Given the description of an element on the screen output the (x, y) to click on. 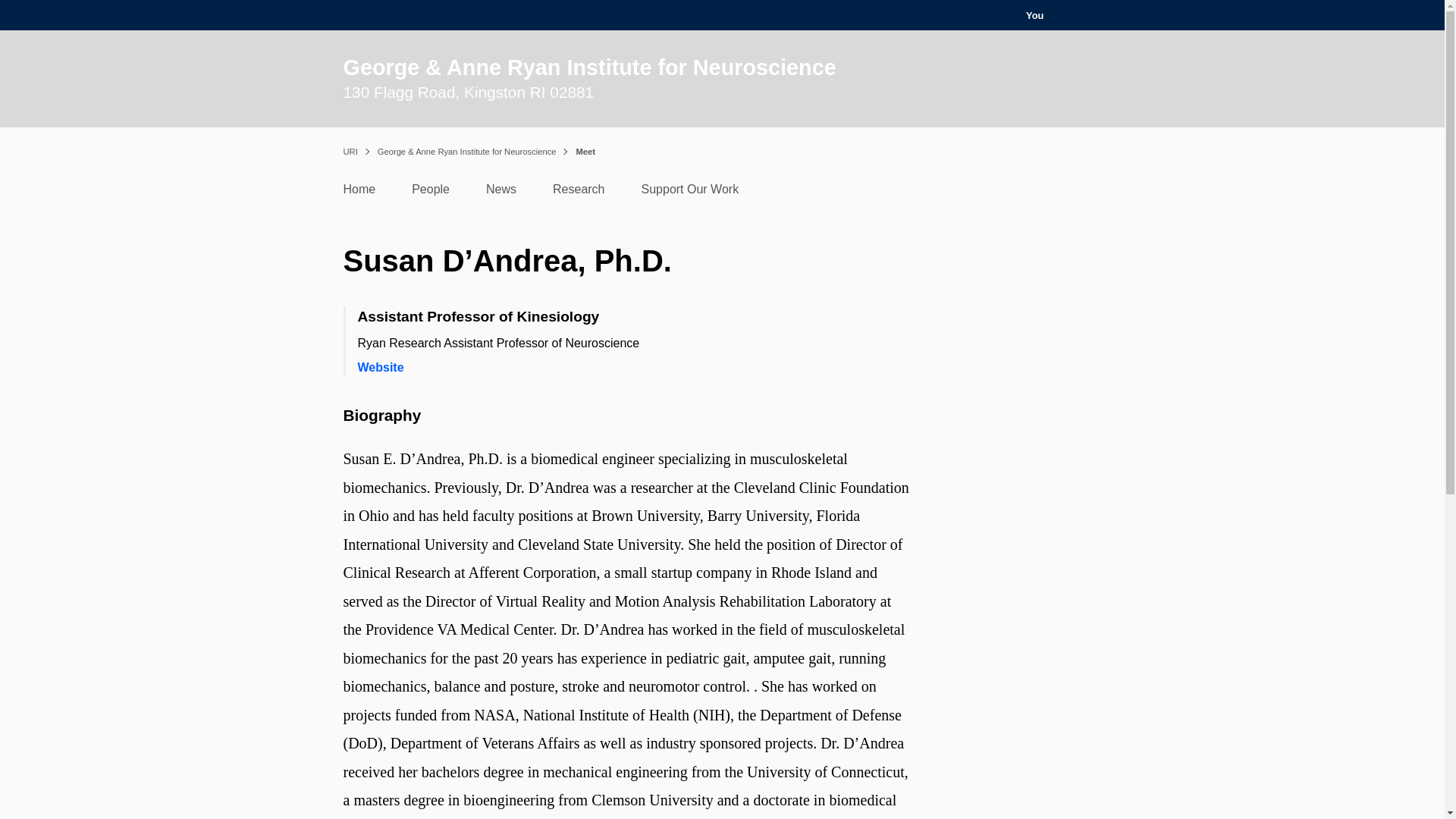
Website (381, 367)
News (501, 192)
People (430, 192)
Home (358, 192)
Support Our Work (690, 192)
Research (578, 192)
URI (349, 151)
